Given the description of an element on the screen output the (x, y) to click on. 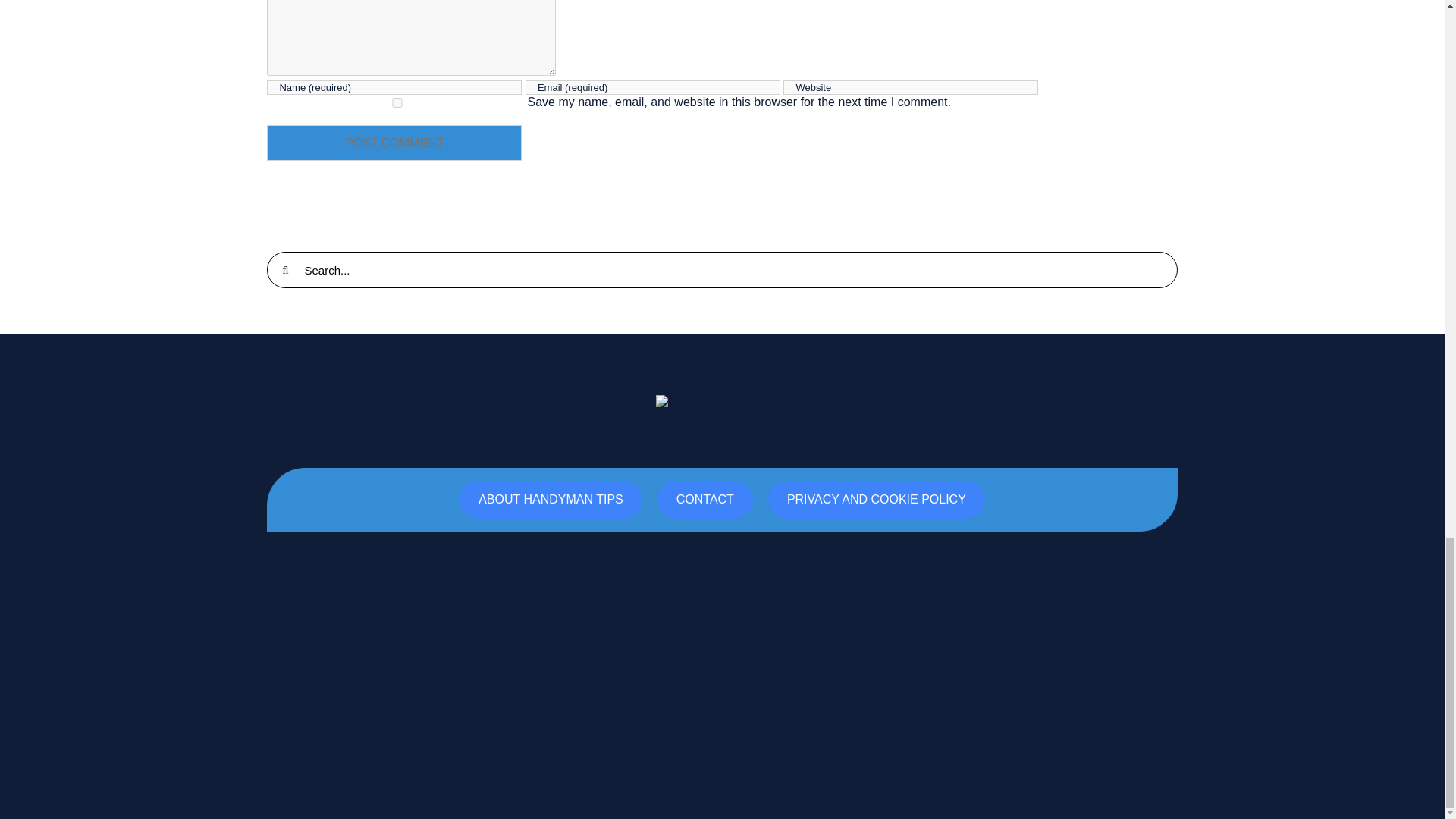
PRIVACY AND COOKIE POLICY (876, 498)
Post Comment (393, 142)
CONTACT (705, 498)
Handyman tips header new (721, 400)
ABOUT HANDYMAN TIPS (551, 498)
Post Comment (393, 142)
yes (396, 102)
